Given the description of an element on the screen output the (x, y) to click on. 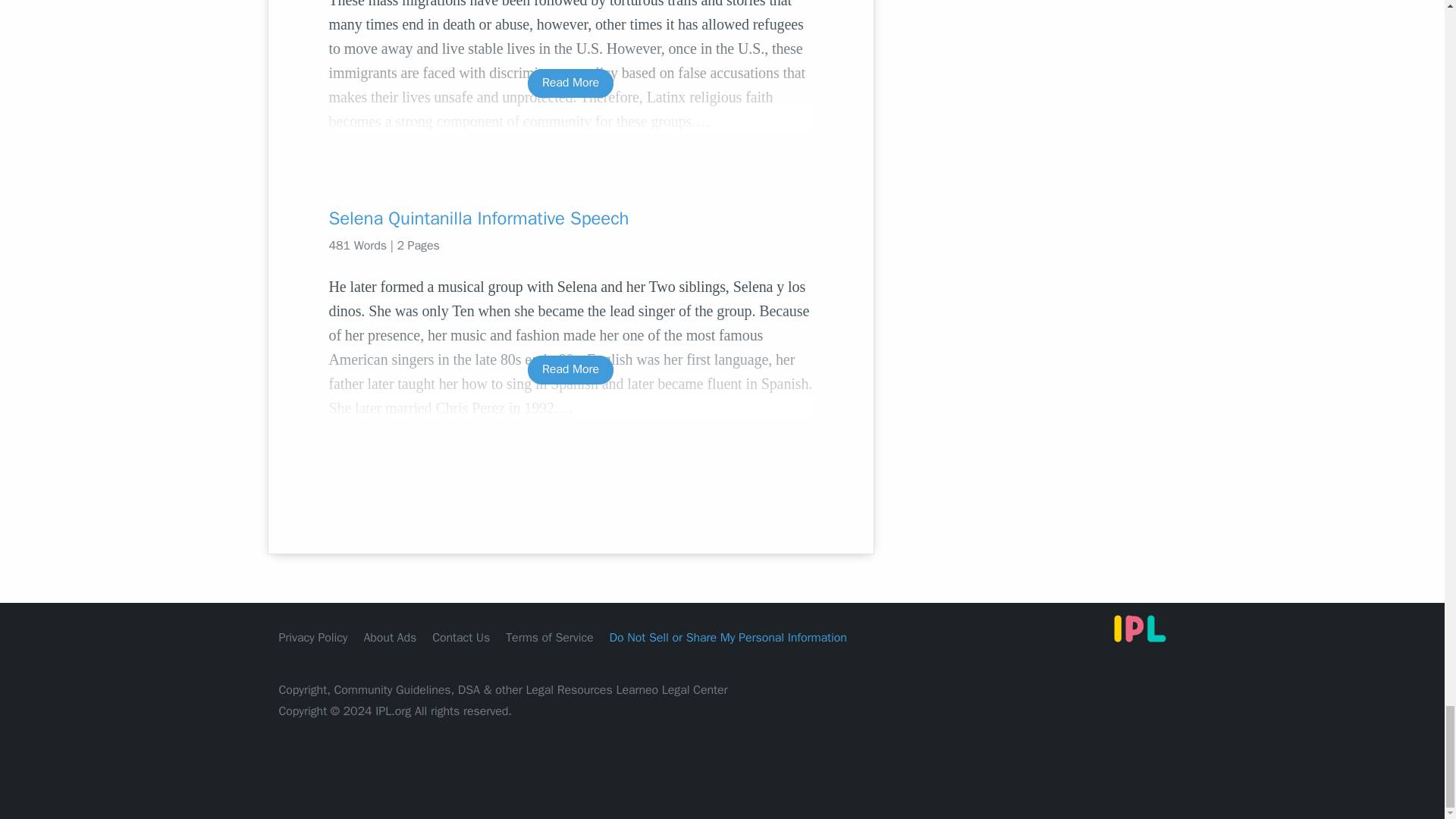
Contact Us (460, 637)
Privacy Policy (313, 637)
Terms of Service (548, 637)
About Ads (389, 637)
